Given the description of an element on the screen output the (x, y) to click on. 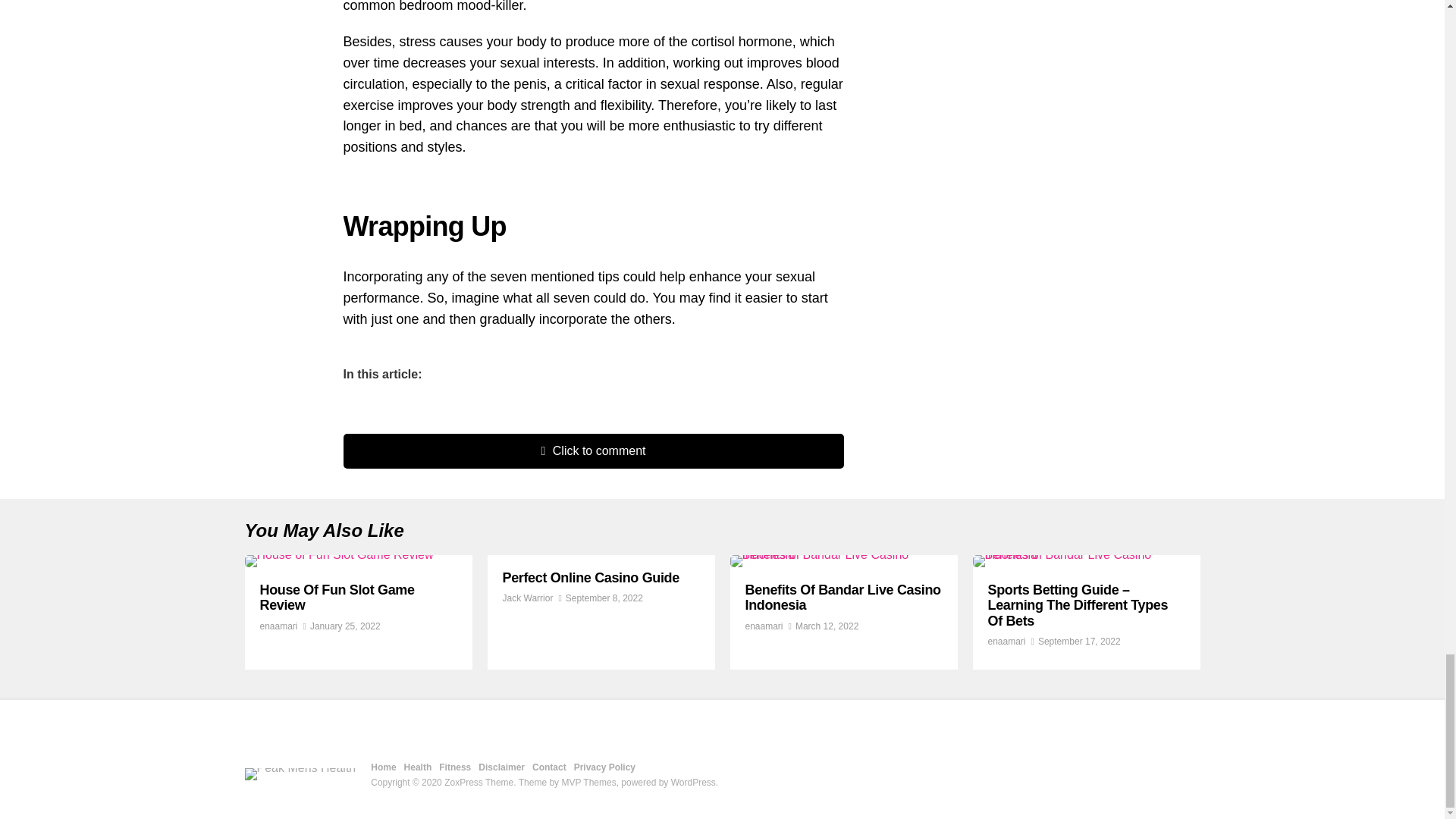
Posts by enaamari (763, 625)
Posts by enaamari (1006, 641)
Posts by Jack Warrior (527, 597)
Posts by enaamari (278, 625)
